Given the description of an element on the screen output the (x, y) to click on. 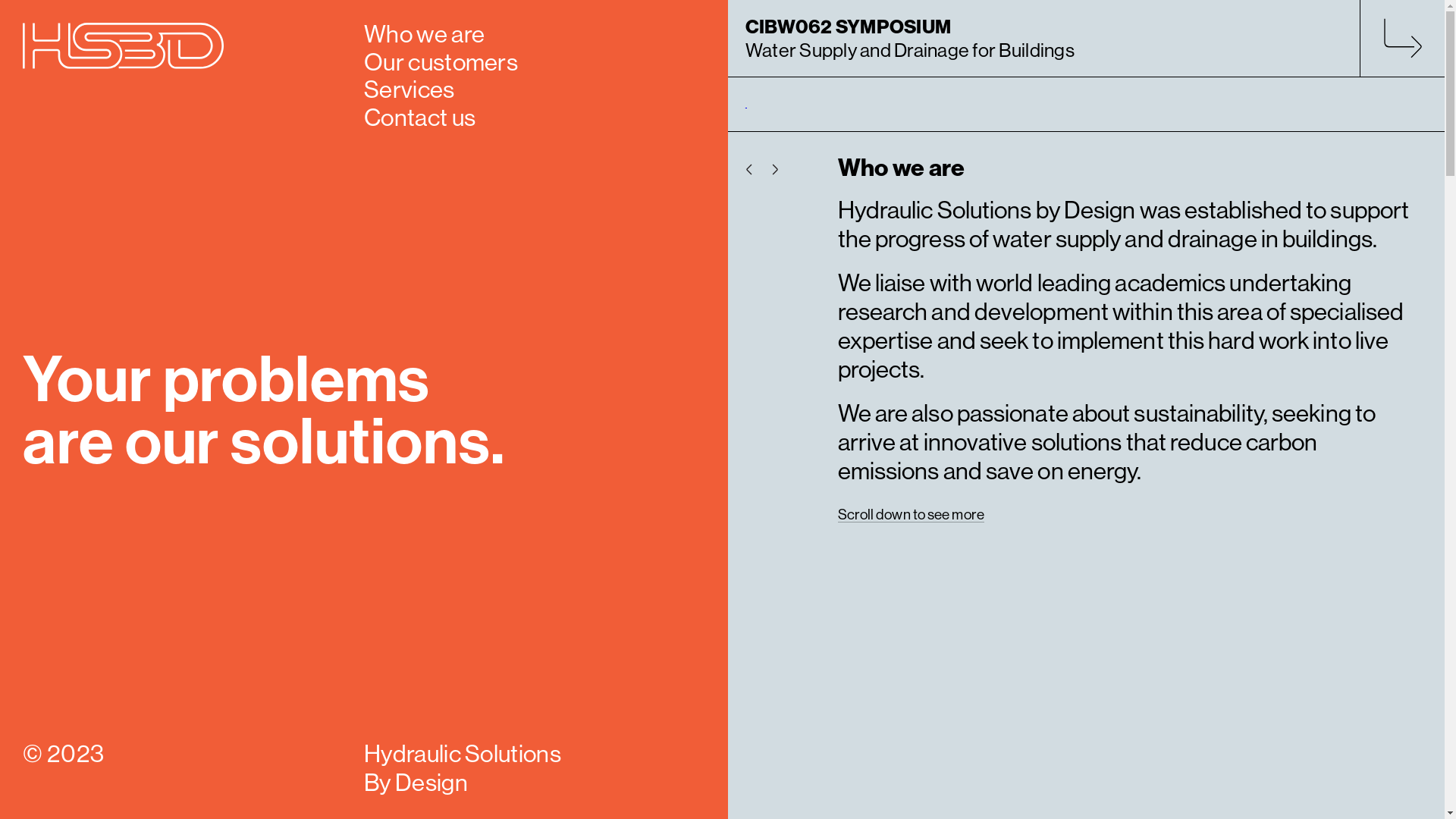
CIBW062 SYMPOSIUM
Water Supply and Drainage for Buildings Element type: text (1082, 38)
Our customers Element type: text (440, 60)
Scroll down to see more Element type: text (910, 510)
Contact us Element type: text (419, 115)
Who we are Element type: text (424, 32)
Services Element type: text (409, 87)
